Given the description of an element on the screen output the (x, y) to click on. 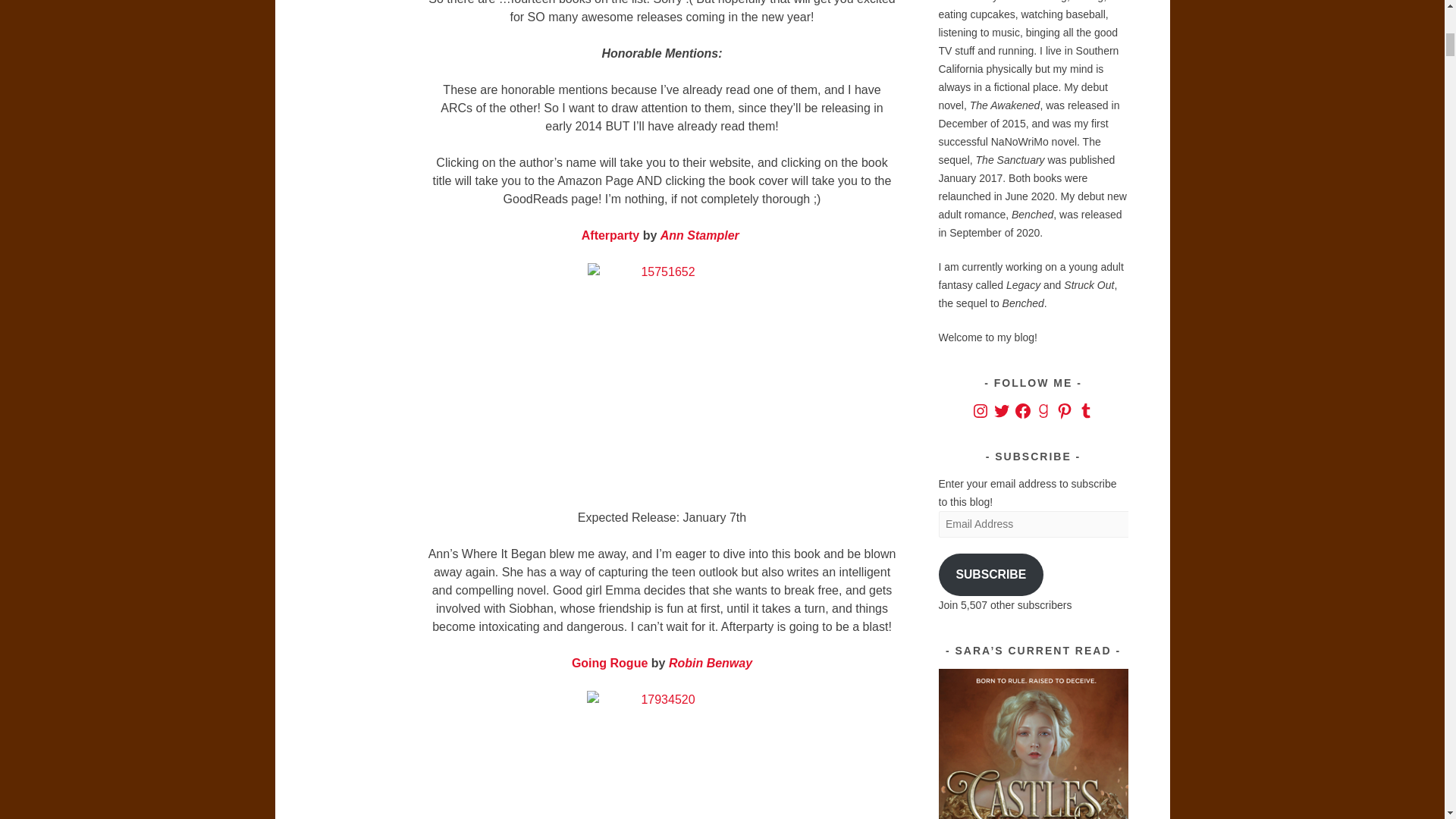
Going Rogue (609, 662)
Robin Benway (710, 662)
Afterparty (609, 235)
Ann Stampler (700, 235)
